Given the description of an element on the screen output the (x, y) to click on. 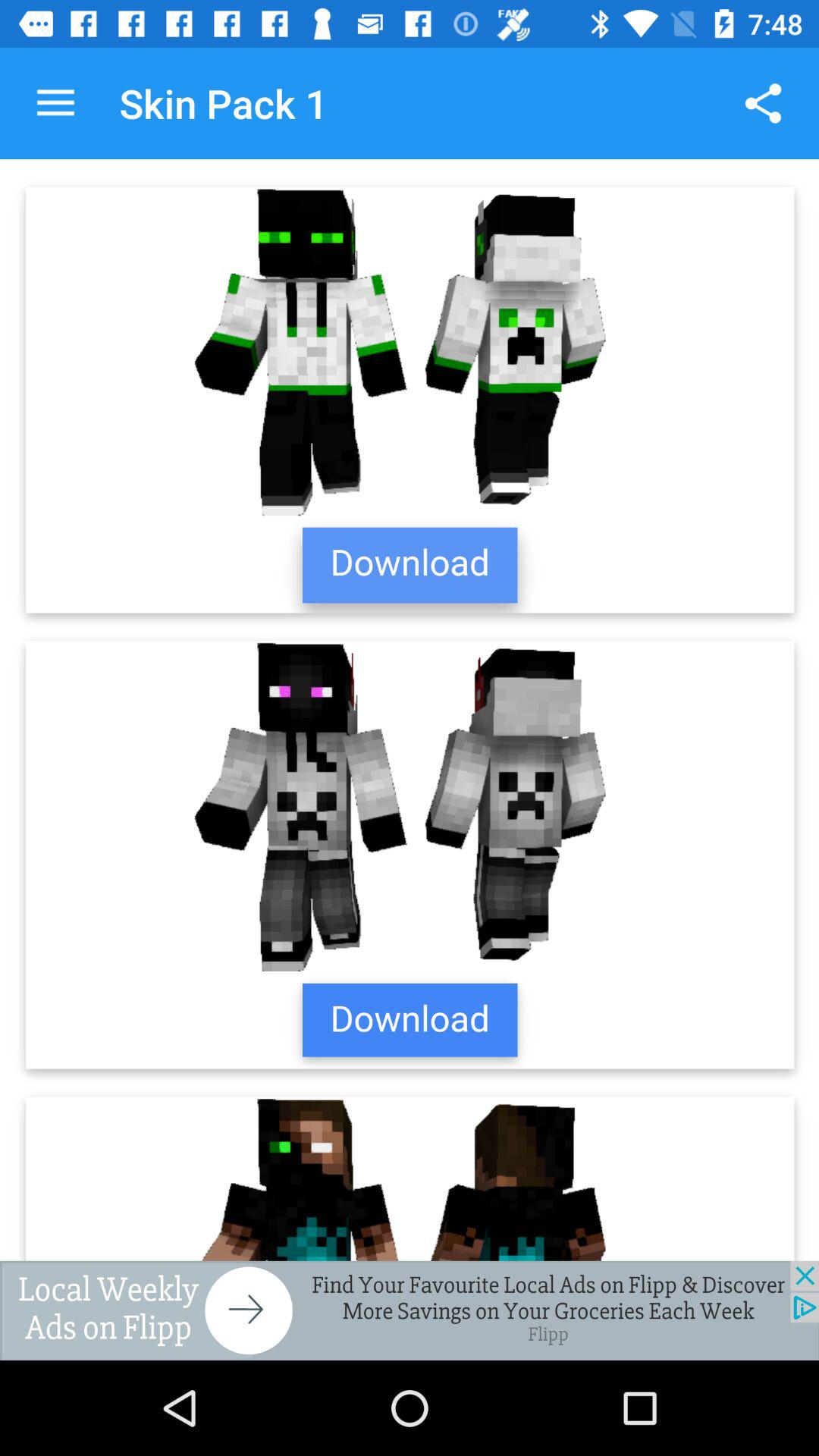
go to advertisement (409, 1310)
